Given the description of an element on the screen output the (x, y) to click on. 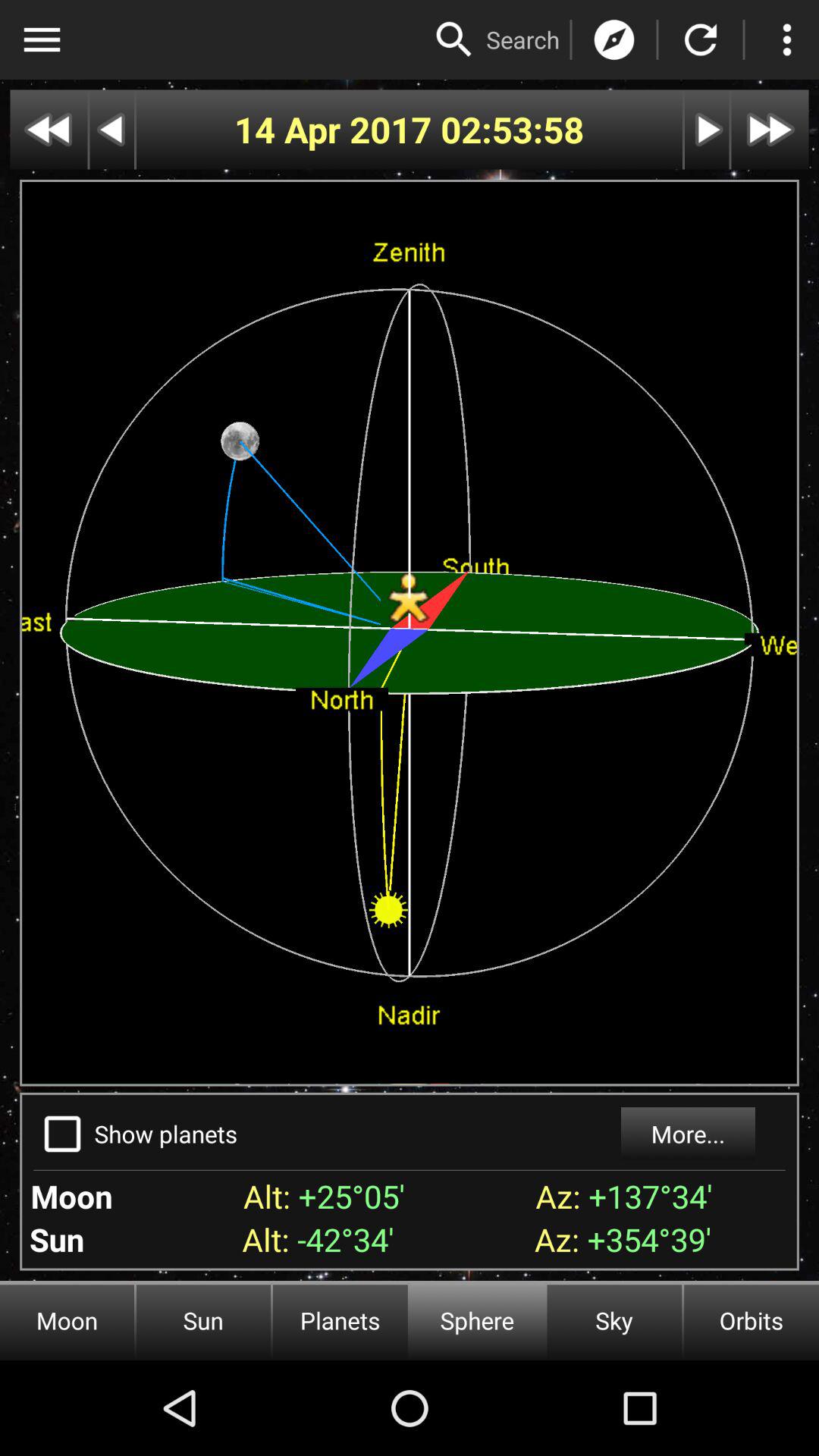
open the more... (688, 1133)
